Given the description of an element on the screen output the (x, y) to click on. 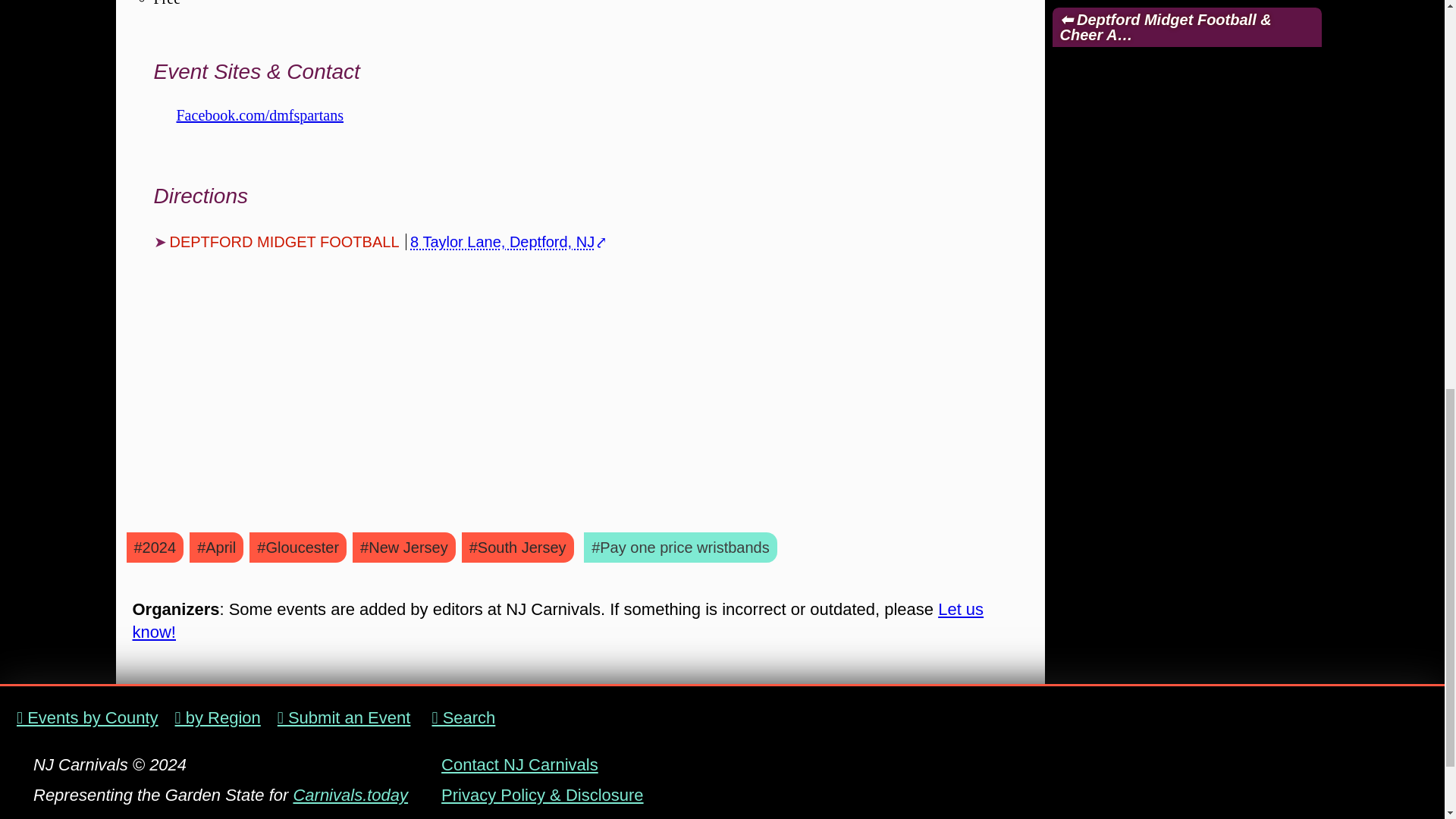
Somewhere in Jersey (181, 817)
Contact NJ Carnivals (519, 764)
8 Taylor Lane, Deptford, NJ (502, 241)
Let us know! (558, 620)
Carnivals.today (349, 794)
